Given the description of an element on the screen output the (x, y) to click on. 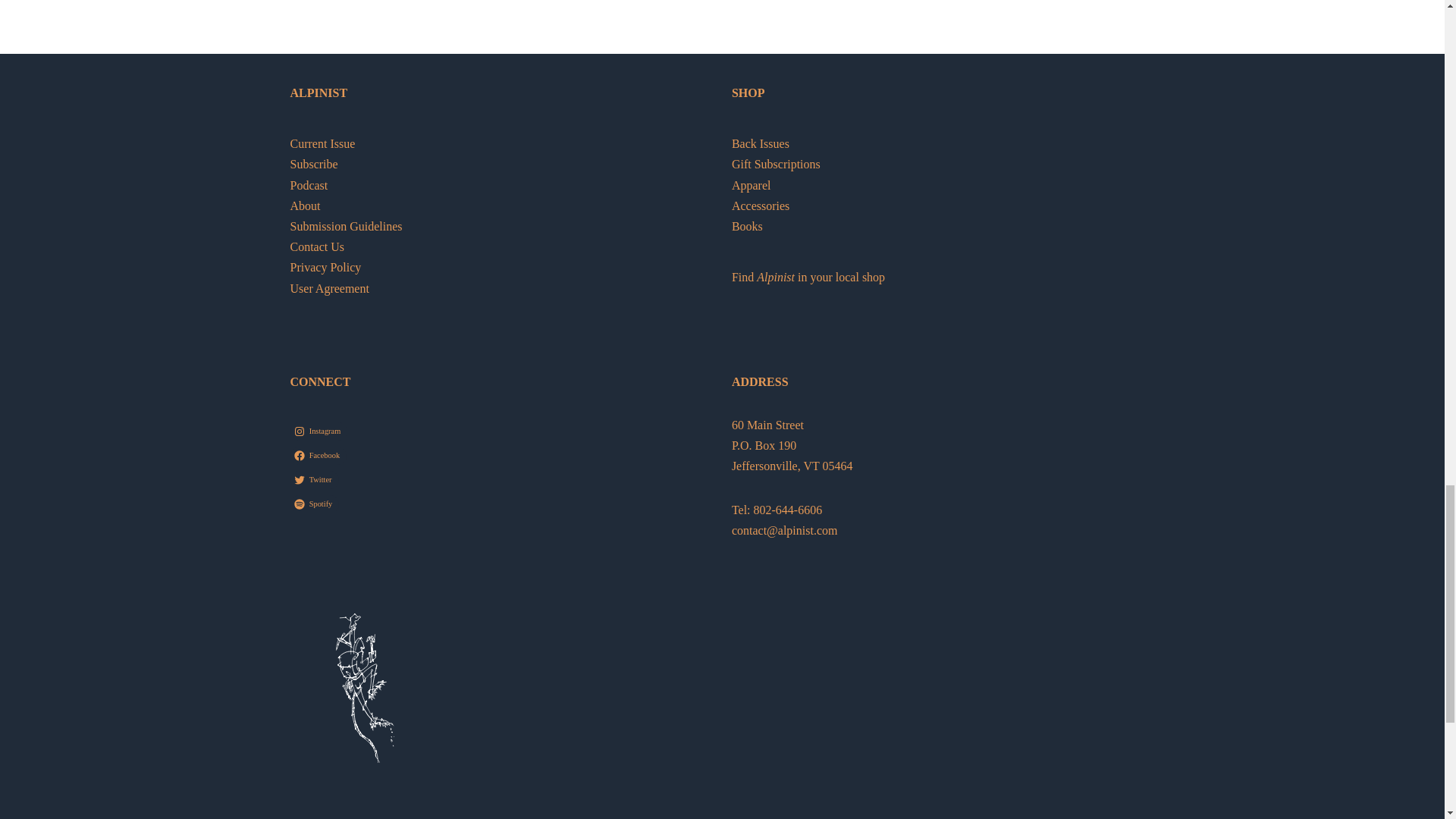
Current Issue (322, 143)
Subscribe (313, 164)
Podcast (308, 185)
About (304, 205)
